Given the description of an element on the screen output the (x, y) to click on. 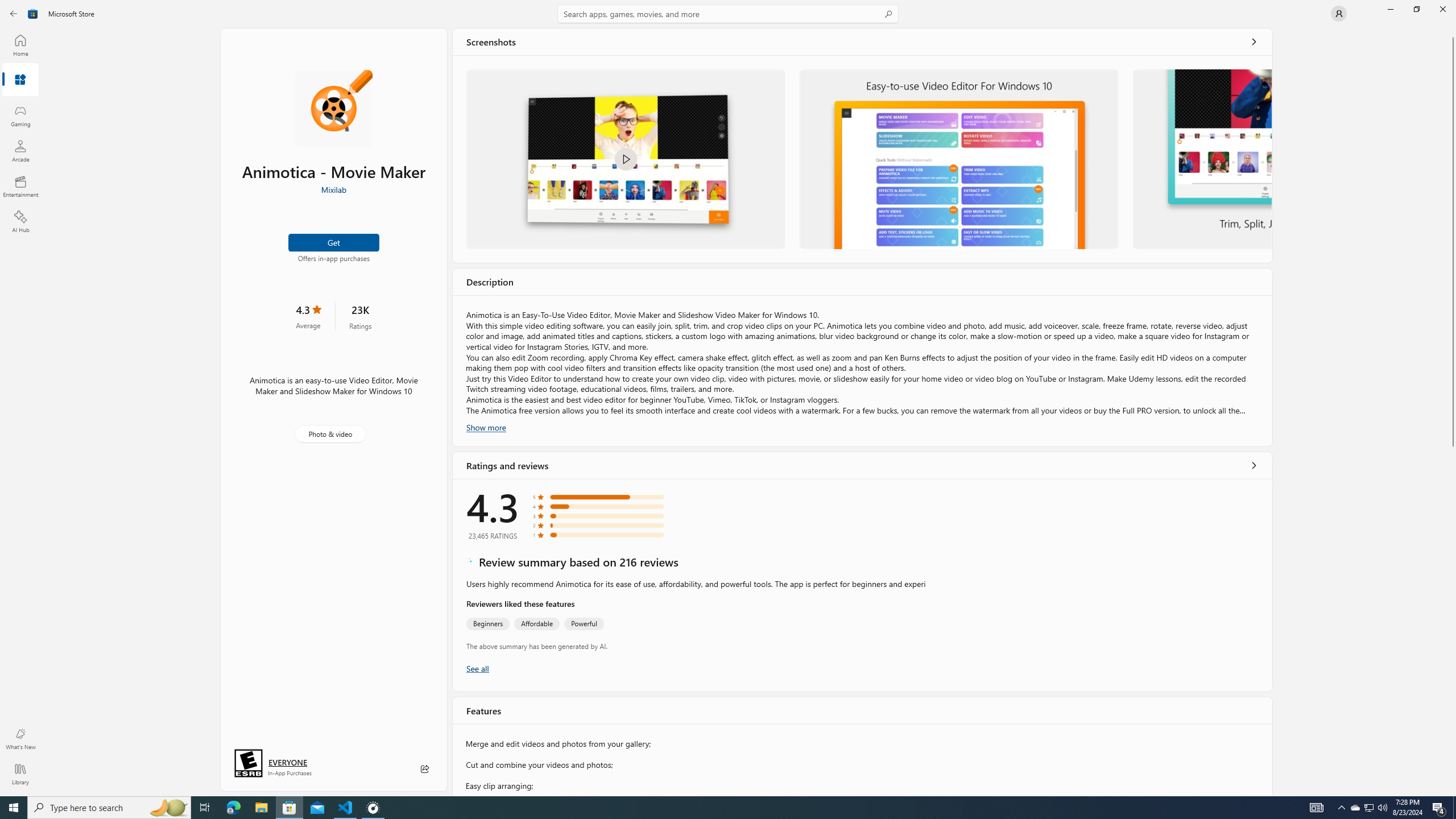
Apps (20, 80)
AutomationID: NavigationControl (728, 398)
Get (334, 241)
Age rating: EVERYONE. Click for more information. (287, 762)
AI Hub (20, 221)
User profile (1338, 13)
Share (424, 769)
Close Microsoft Store (1442, 9)
Class: Image (624, 158)
Show all ratings and reviews (477, 667)
What's New (20, 738)
Trim, Split, Join Video and Photo in Animotica (1201, 158)
Library (20, 773)
Entertainment (20, 185)
Minimize Microsoft Store (1390, 9)
